Given the description of an element on the screen output the (x, y) to click on. 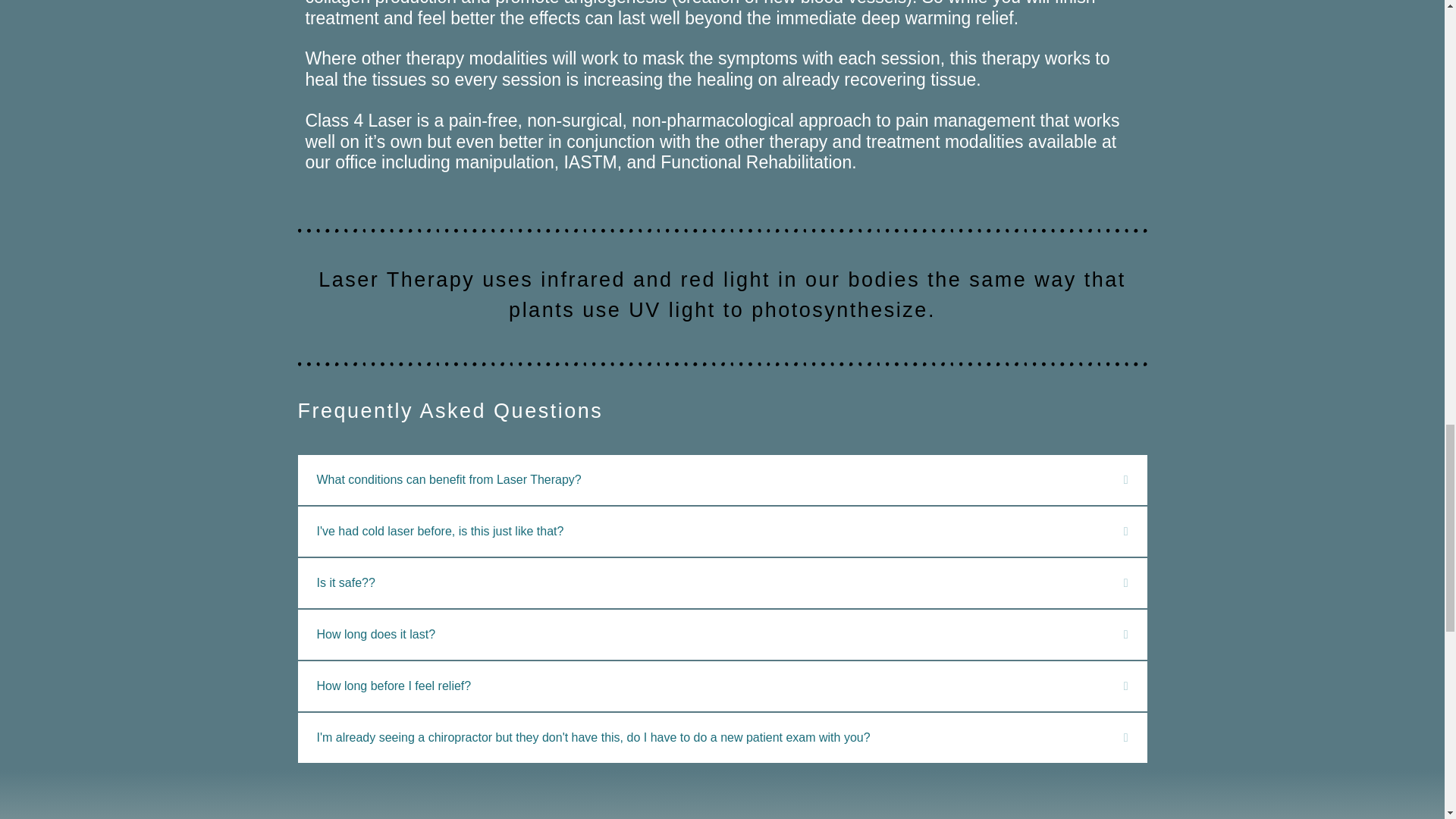
IASTM (589, 161)
What conditions can benefit from Laser Therapy? (448, 479)
Is it safe?? (346, 582)
How long does it last? (376, 634)
Functional Rehabilitation. (758, 161)
How long before I feel relief? (394, 685)
I've had cold laser before, is this just like that? (440, 530)
manipulation (503, 161)
